Given the description of an element on the screen output the (x, y) to click on. 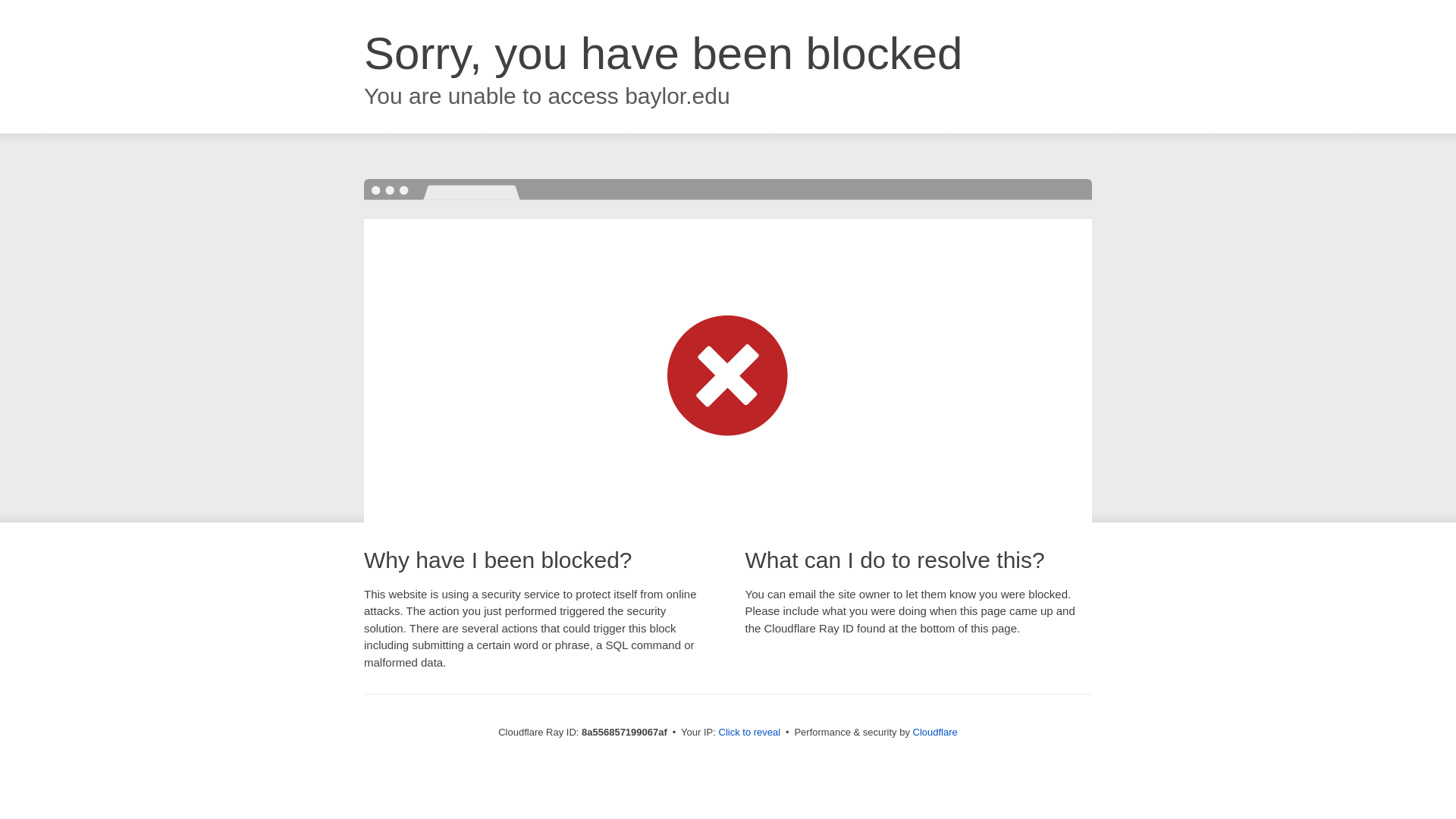
Cloudflare (935, 731)
Click to reveal (749, 732)
